Given the description of an element on the screen output the (x, y) to click on. 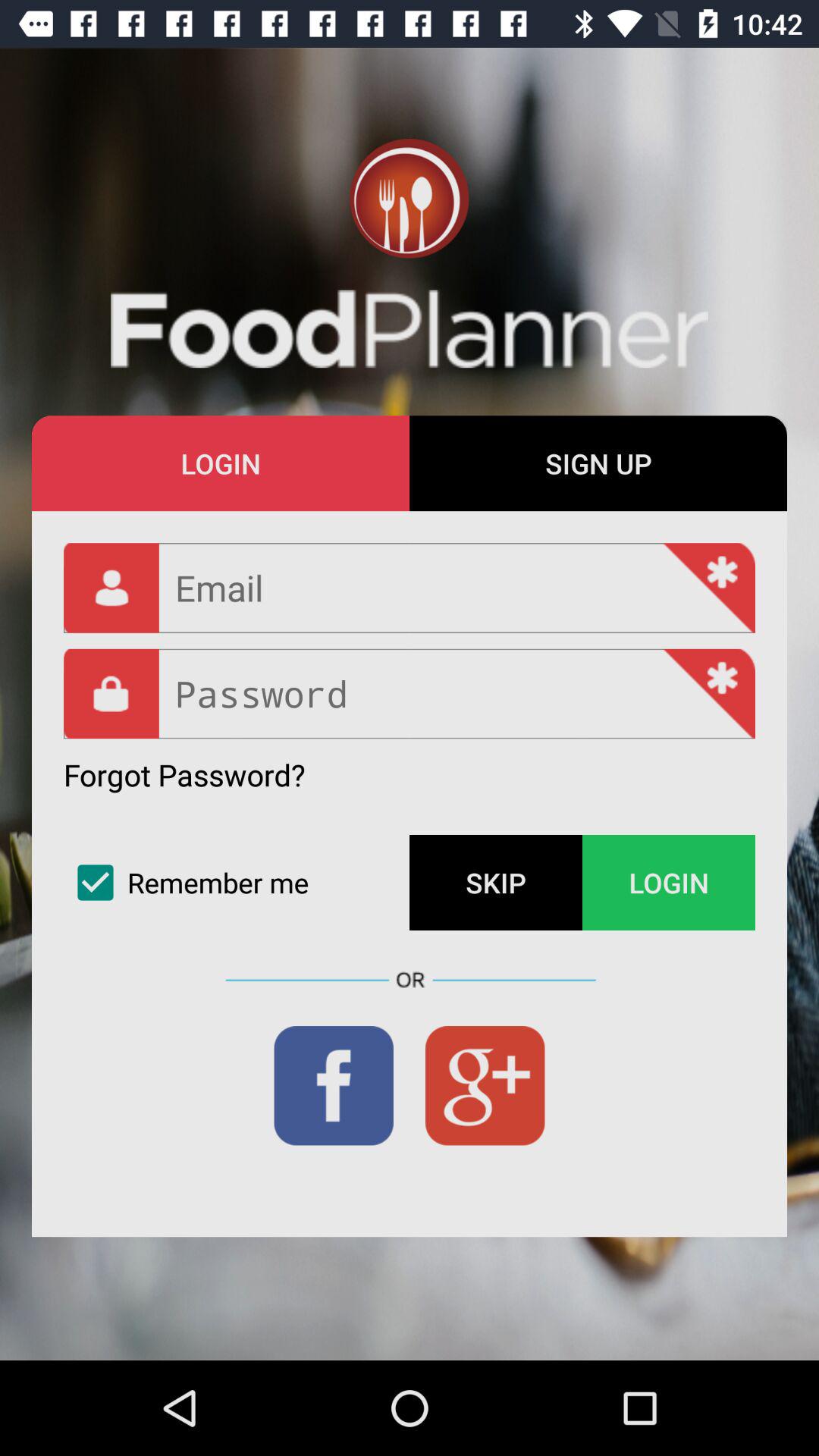
click forgot password? item (184, 774)
